Given the description of an element on the screen output the (x, y) to click on. 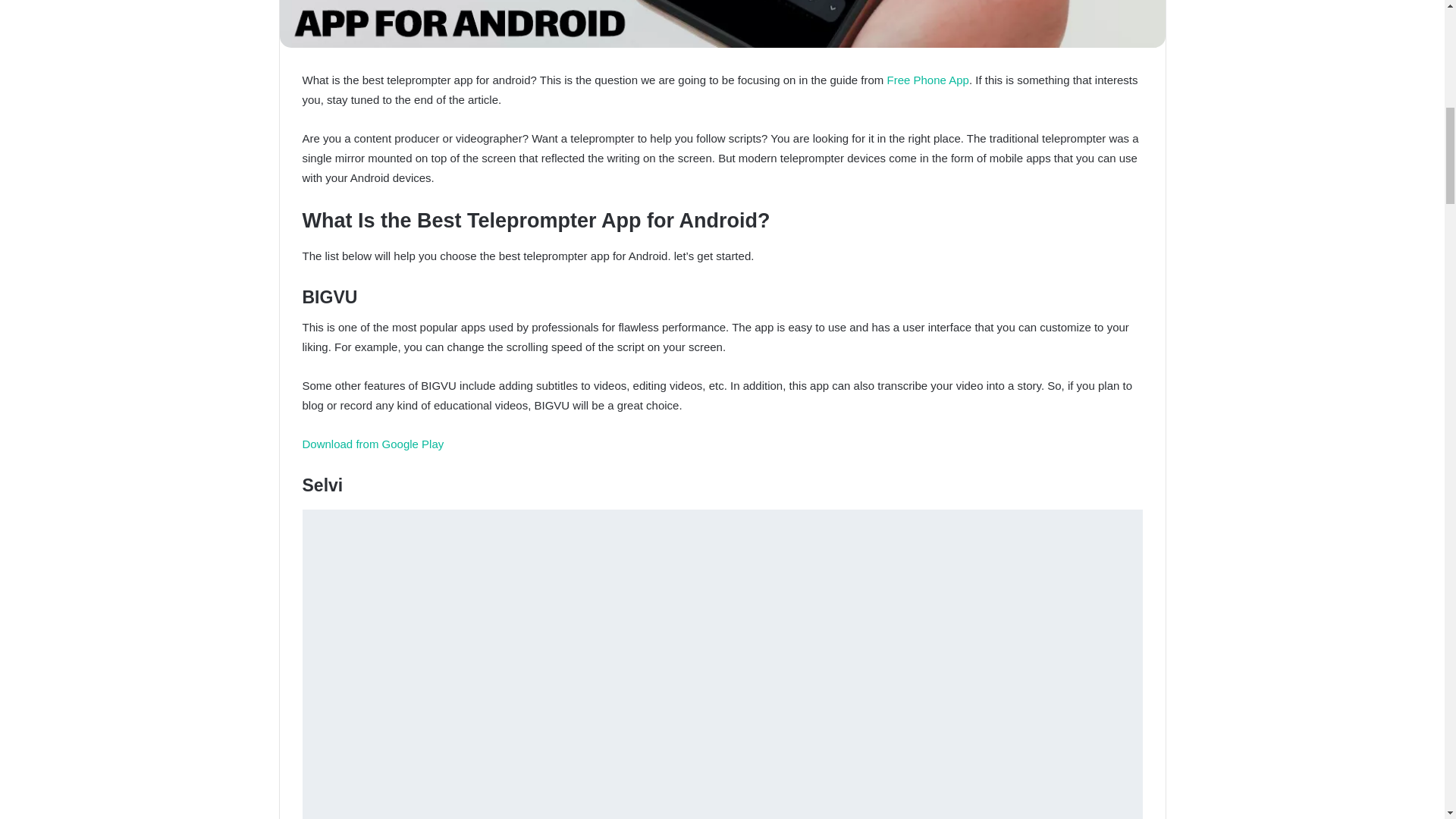
What Is the Best Teleprompter App for Android 1 (721, 23)
Download from Google Play (372, 443)
Free Phone App (927, 79)
